Given the description of an element on the screen output the (x, y) to click on. 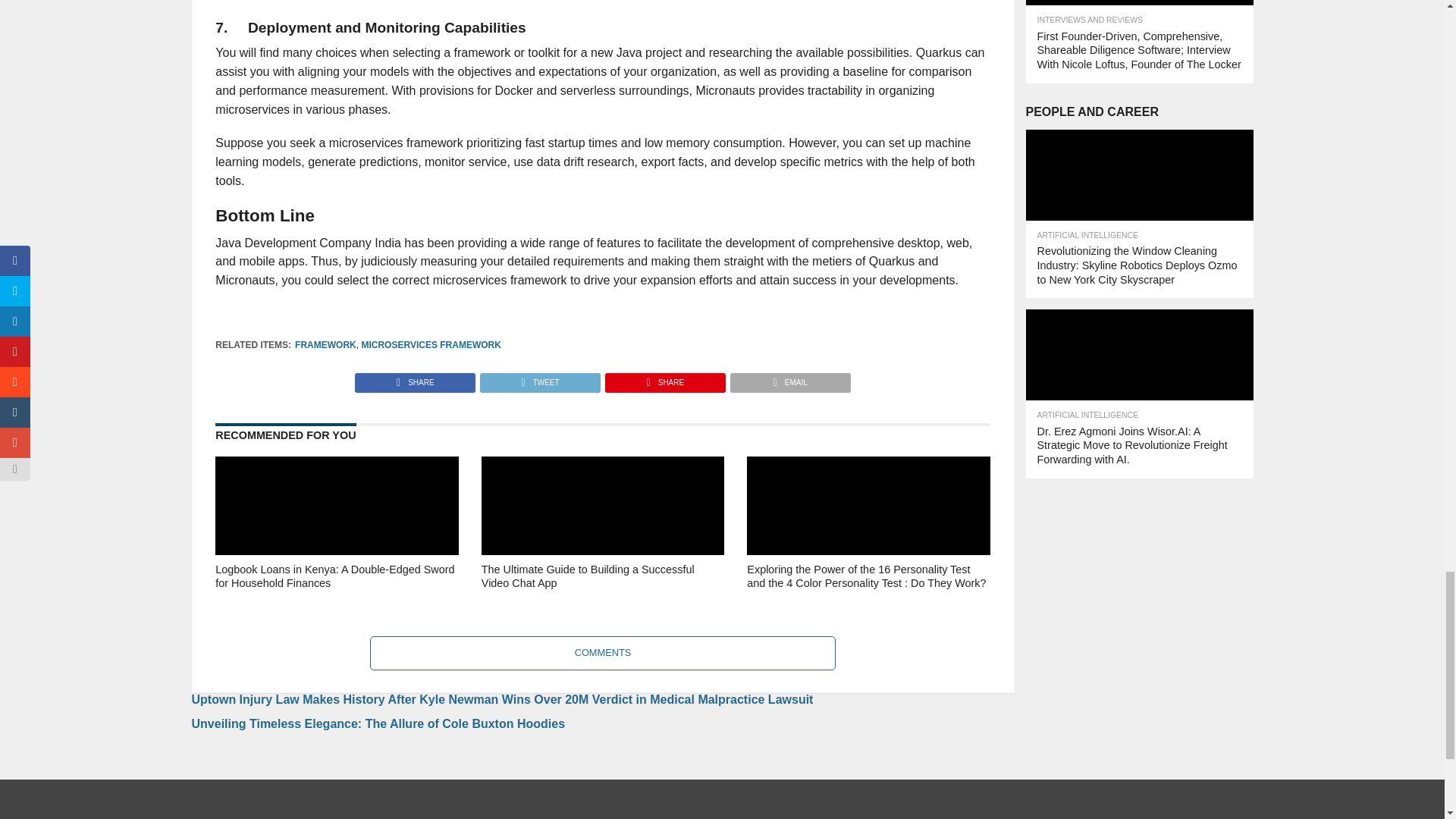
Share on Facebook (415, 378)
Pin This Post (664, 378)
The Ultimate Guide to Building a Successful Video Chat App (602, 597)
Tweet This Post (539, 378)
